Given the description of an element on the screen output the (x, y) to click on. 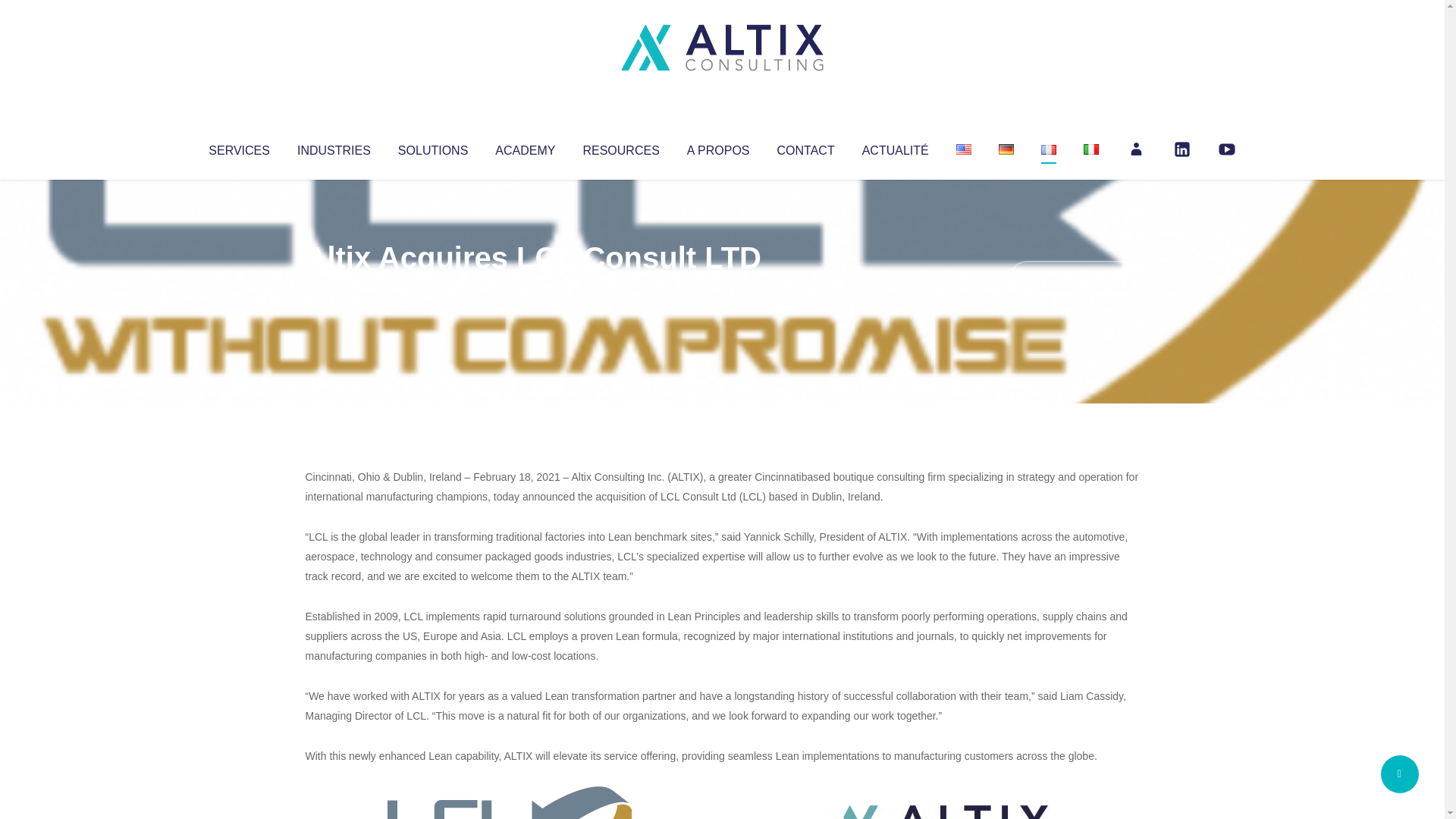
INDUSTRIES (334, 146)
SOLUTIONS (432, 146)
A PROPOS (718, 146)
ACADEMY (524, 146)
No Comments (1073, 278)
Altix (333, 287)
SERVICES (238, 146)
RESOURCES (620, 146)
Articles par Altix (333, 287)
Uncategorized (530, 287)
